Given the description of an element on the screen output the (x, y) to click on. 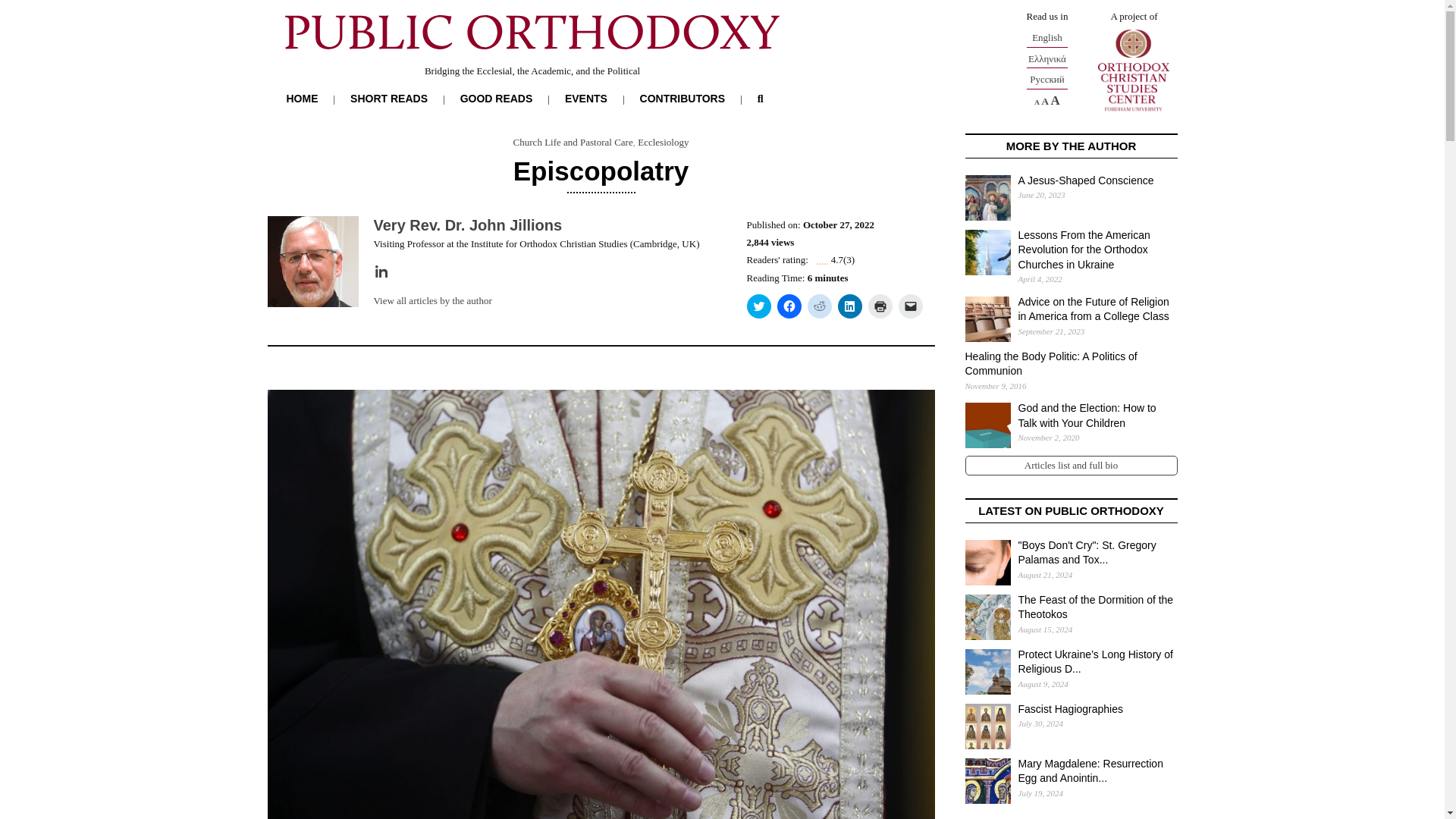
EVENTS (585, 98)
Very Rev. Dr. John Jillions (467, 225)
Very Rev. Dr. John Jillions (467, 225)
Click to print (879, 306)
Ecclesiology (662, 142)
GOOD READS (496, 98)
Church Life and Pastoral Care (573, 142)
Orthodox Christian Studies Center of Fordham University (1133, 70)
View all articles by the author (432, 300)
SHORT READS (389, 98)
